Given the description of an element on the screen output the (x, y) to click on. 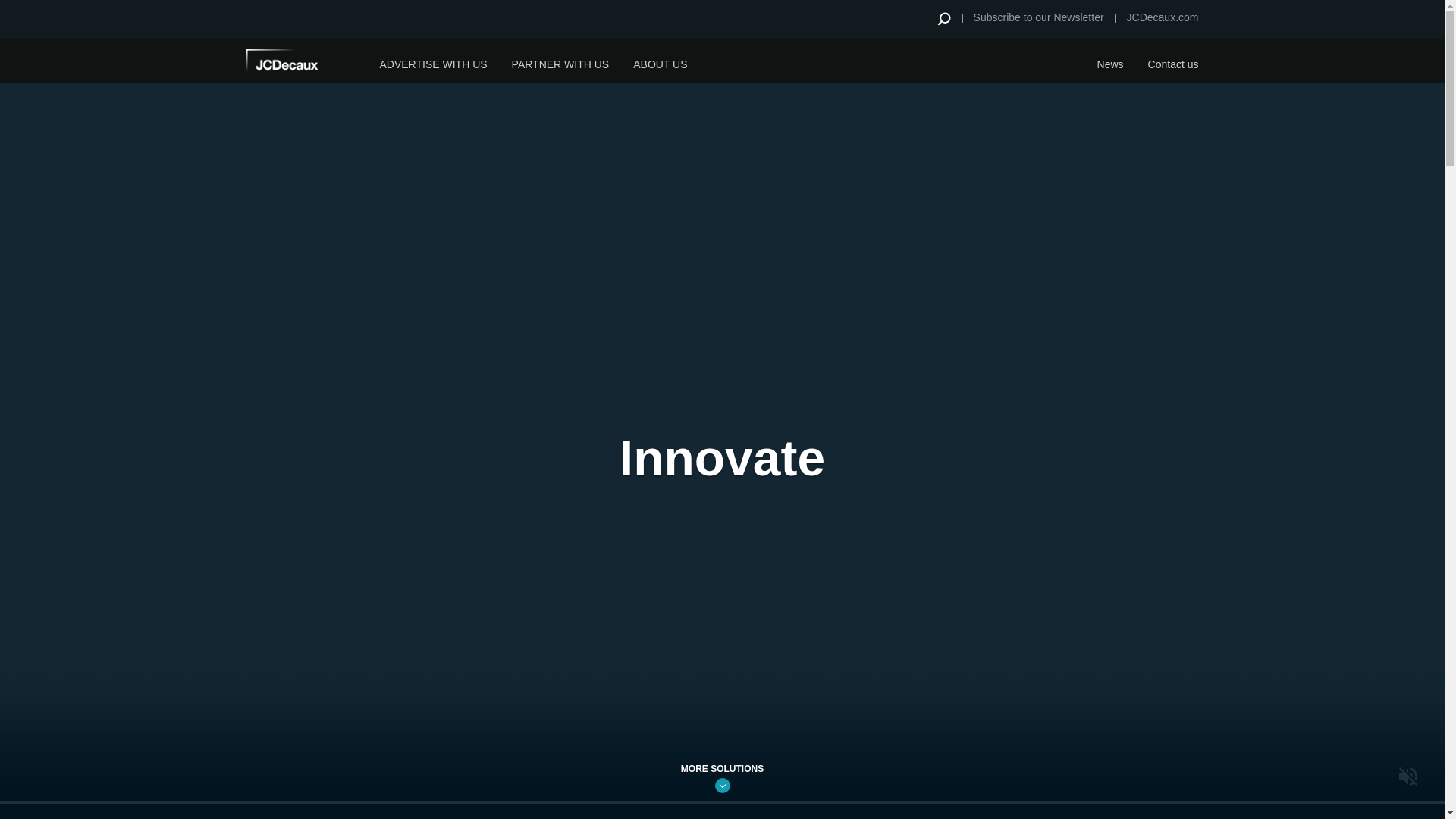
Home (302, 62)
LINK (721, 785)
JCDecaux.com (1162, 17)
News (1110, 60)
PARTNER WITH US (560, 60)
ADVERTISE WITH US (433, 60)
Subscribe to our Newsletter (1038, 17)
Contact us (1173, 60)
